Given the description of an element on the screen output the (x, y) to click on. 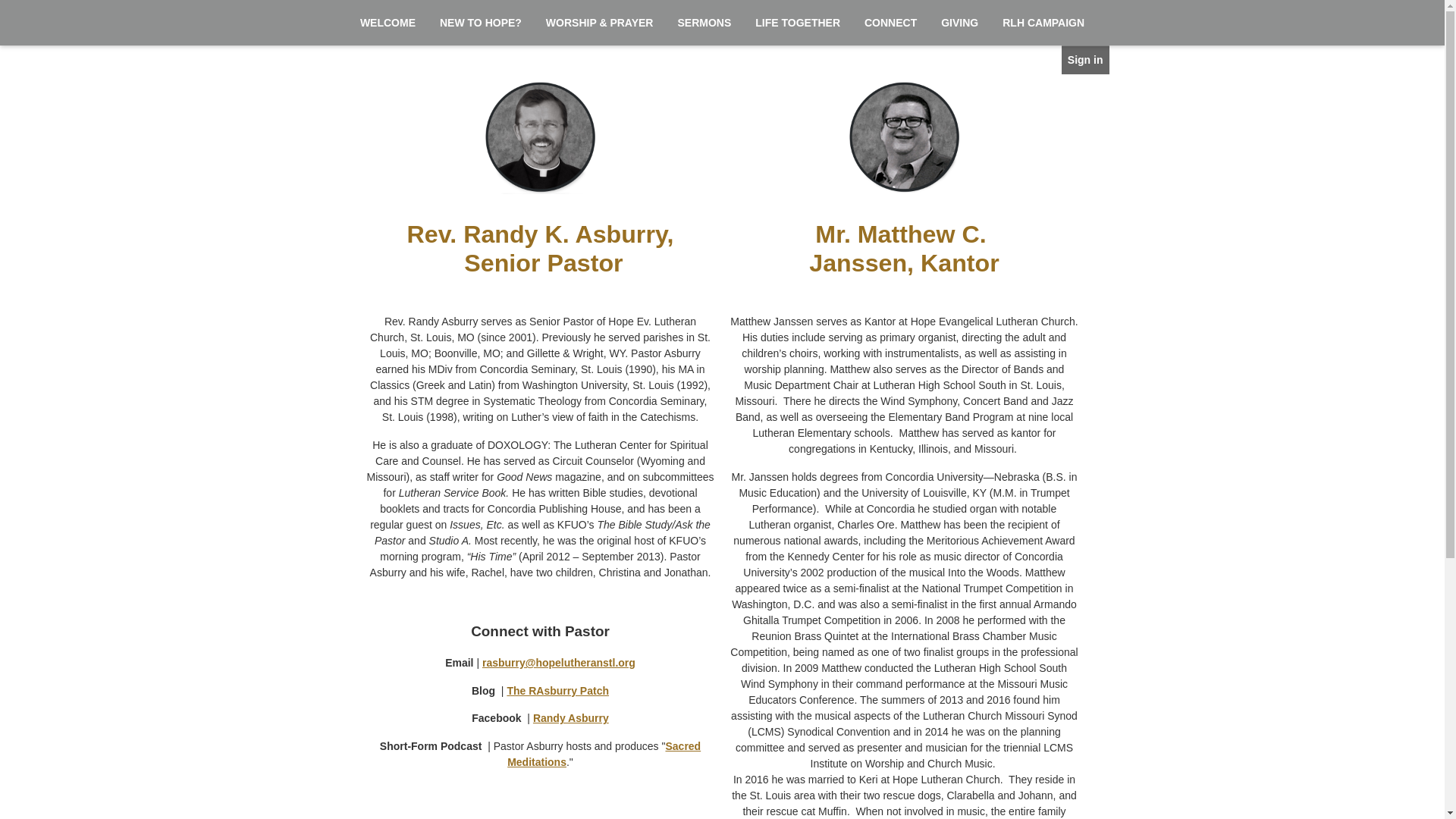
SERMONS Element type: text (704, 22)
Randy Asburry Element type: text (570, 718)
RLH CAMPAIGN Element type: text (1043, 22)
rasburry@hopelutheranstl.org Element type: text (558, 662)
WELCOME Element type: text (387, 22)
The RAsburry Patch Element type: text (557, 690)
GIVING Element type: text (959, 22)
Sacred Meditations Element type: text (603, 754)
Sign in Element type: text (1085, 59)
